Given the description of an element on the screen output the (x, y) to click on. 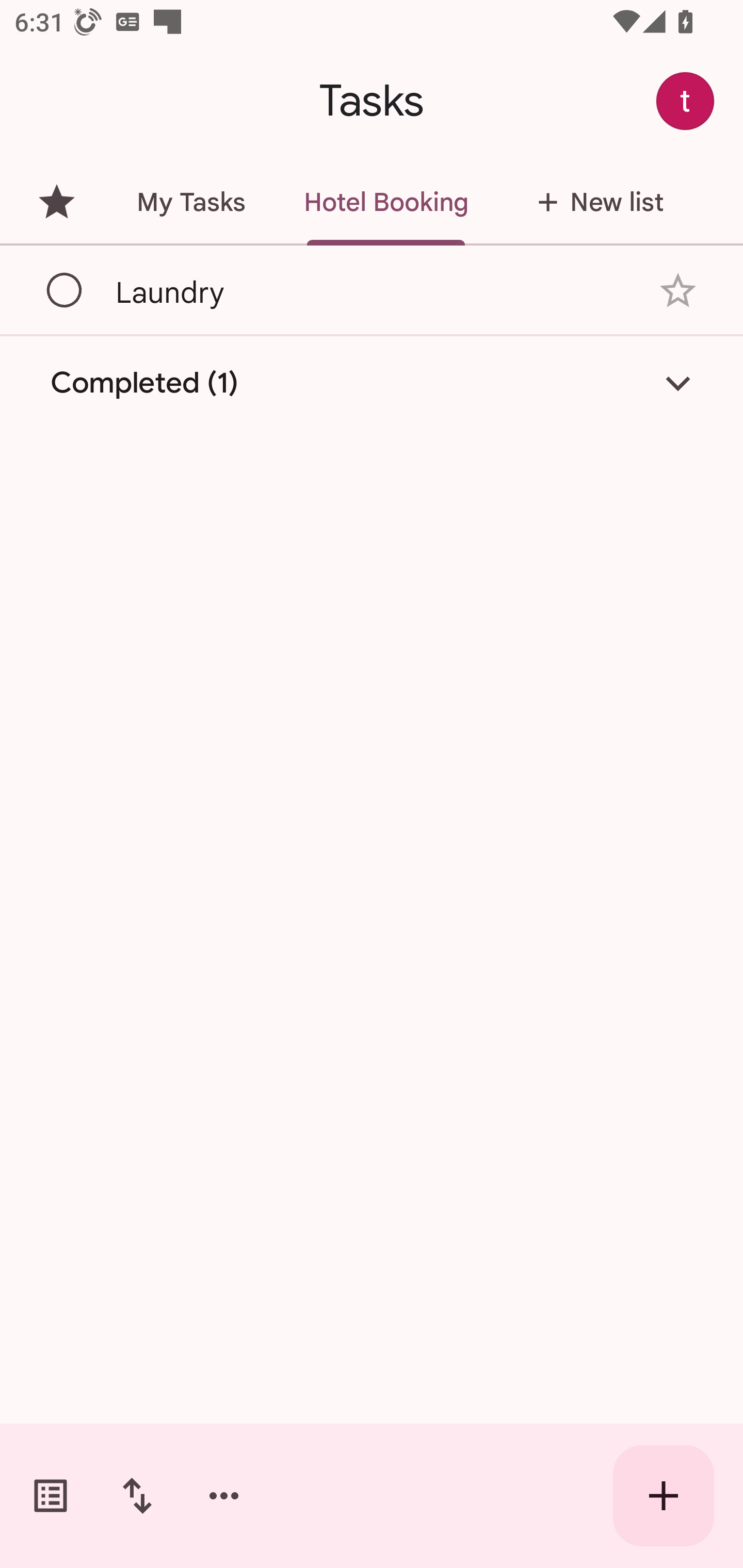
Starred (55, 202)
My Tasks (190, 202)
New list (594, 202)
Laundry Laundry Add star Mark as complete (371, 289)
Add star (677, 290)
Mark as complete (64, 290)
Completed (1) (371, 382)
Switch task lists (50, 1495)
Create new task (663, 1495)
Change sort order (136, 1495)
More options (223, 1495)
